Given the description of an element on the screen output the (x, y) to click on. 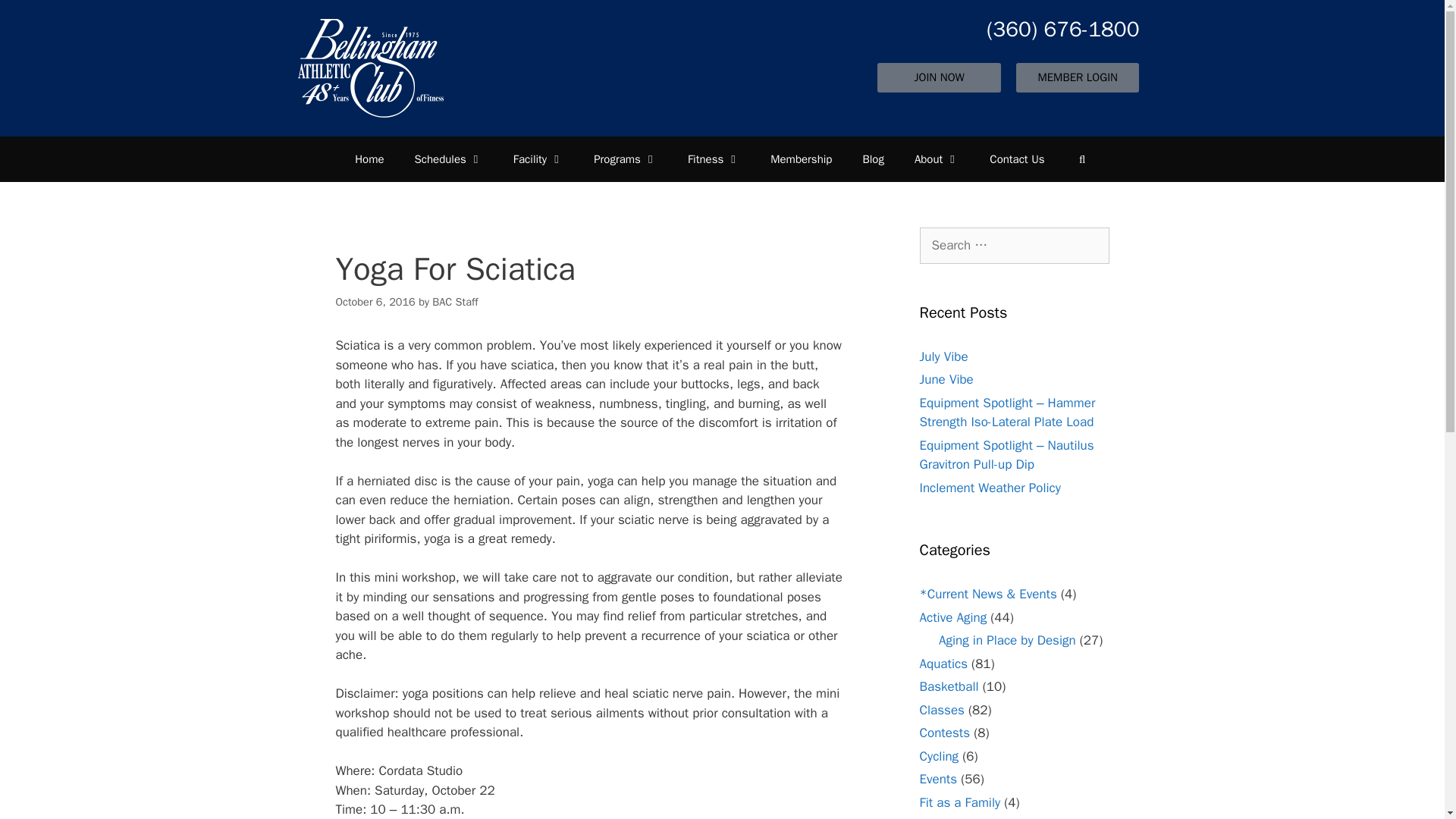
Contact Us (1016, 158)
Search for: (1013, 245)
Facility (537, 158)
MEMBER LOGIN (1077, 77)
View all posts by BAC Staff (454, 301)
Blog (872, 158)
Membership (801, 158)
About (936, 158)
Home (368, 158)
Programs (625, 158)
Schedules (447, 158)
JOIN NOW (938, 77)
Fitness (713, 158)
